Given the description of an element on the screen output the (x, y) to click on. 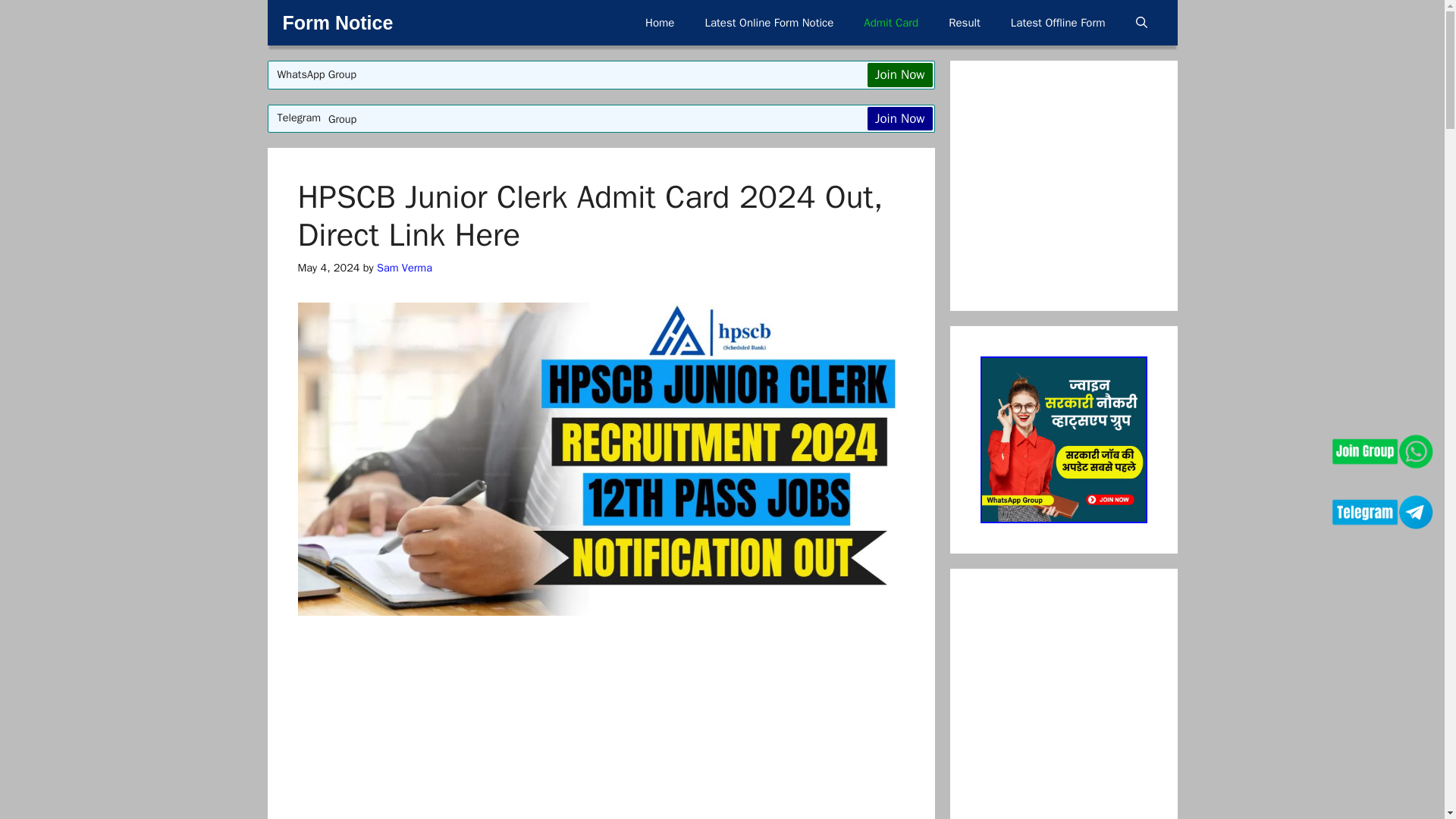
Latest Offline Form (1058, 22)
Join Now (900, 74)
Sam Verma (404, 267)
Home (659, 22)
Latest Online Form Notice (768, 22)
Form Notice (337, 22)
View all posts by Sam Verma (404, 267)
Join Now (900, 118)
Result (964, 22)
Admit Card (890, 22)
Advertisement (647, 730)
